Given the description of an element on the screen output the (x, y) to click on. 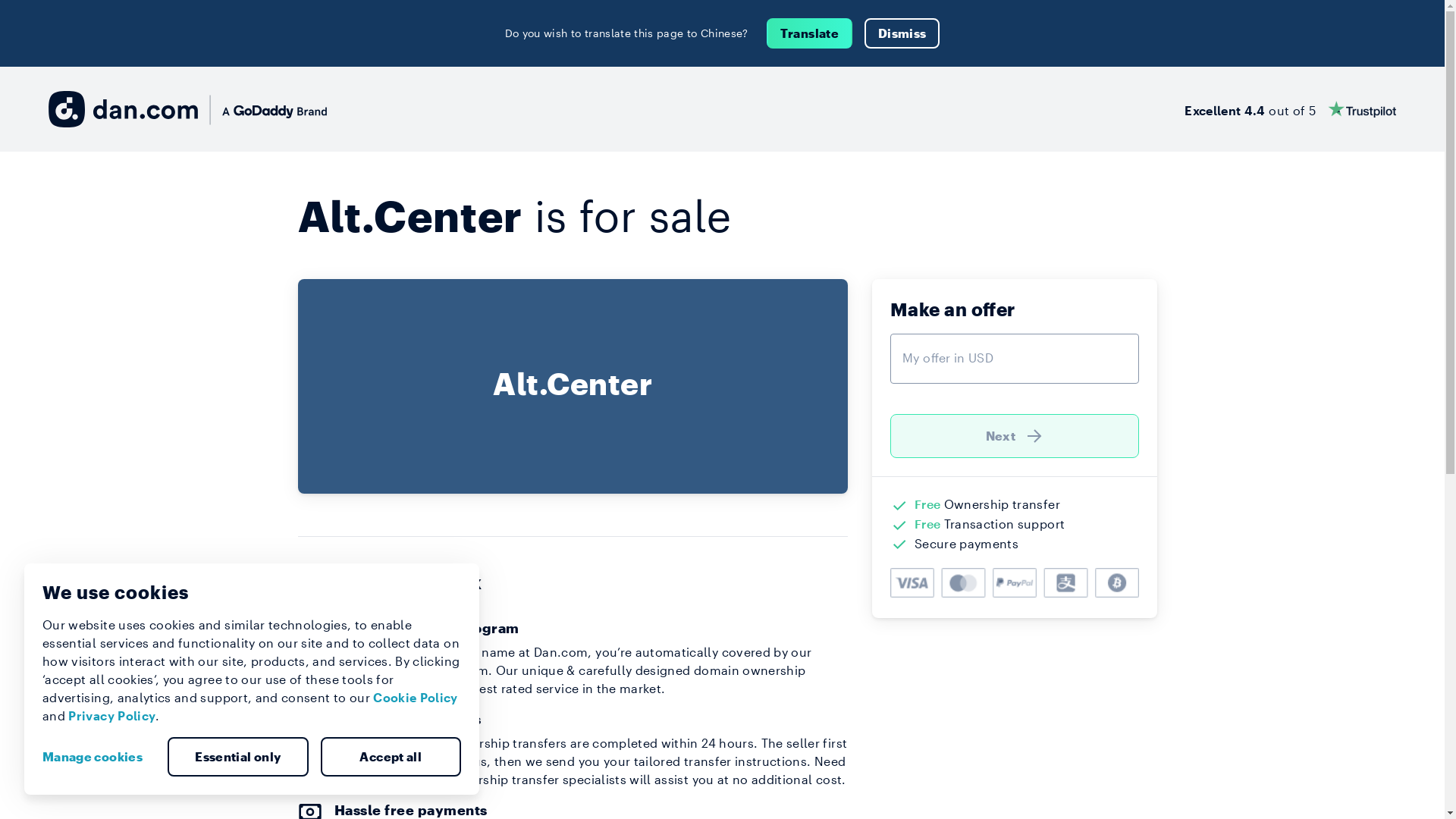
Dismiss Element type: text (901, 33)
Privacy Policy Element type: text (111, 715)
Translate Element type: text (809, 33)
Manage cookies Element type: text (98, 756)
Next
) Element type: text (1014, 436)
Accept all Element type: text (390, 756)
Cookie Policy Element type: text (415, 697)
Excellent 4.4 out of 5 Element type: text (1290, 109)
Essential only Element type: text (237, 756)
